Given the description of an element on the screen output the (x, y) to click on. 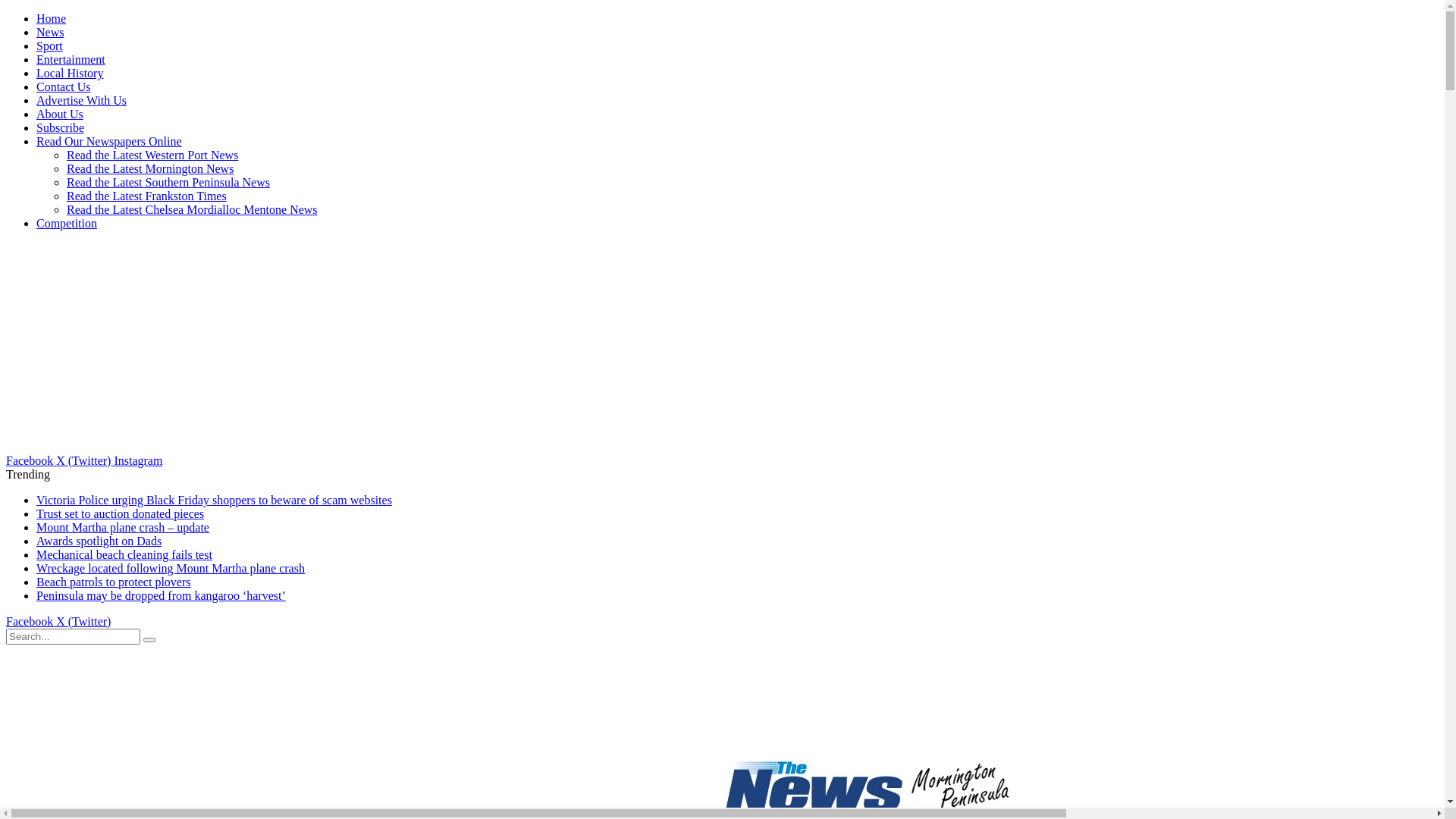
News Element type: text (49, 31)
Facebook Element type: text (31, 621)
Facebook Element type: text (31, 460)
Read the Latest Mornington News Element type: text (149, 168)
Competition Element type: text (66, 222)
X (Twitter) Element type: text (83, 621)
Beach patrols to protect plovers Element type: text (113, 581)
Trust set to auction donated pieces Element type: text (119, 513)
About Us Element type: text (59, 113)
Home Element type: text (50, 18)
Read Our Newspapers Online Element type: text (109, 140)
Read the Latest Western Port News Element type: text (152, 154)
Subscribe Element type: text (60, 127)
Read the Latest Frankston Times Element type: text (146, 195)
Awards spotlight on Dads Element type: text (98, 540)
Entertainment Element type: text (70, 59)
X (Twitter) Element type: text (84, 460)
Mechanical beach cleaning fails test Element type: text (124, 554)
Wreckage located following Mount Martha plane crash Element type: text (170, 567)
Contact Us Element type: text (63, 86)
Advertise With Us Element type: text (81, 100)
Instagram Element type: text (137, 460)
Read the Latest Southern Peninsula News Element type: text (167, 181)
Advertisement Element type: hover (110, 346)
Local History Element type: text (69, 72)
Sport Element type: text (49, 45)
Read the Latest Chelsea Mordialloc Mentone News Element type: text (191, 209)
